Given the description of an element on the screen output the (x, y) to click on. 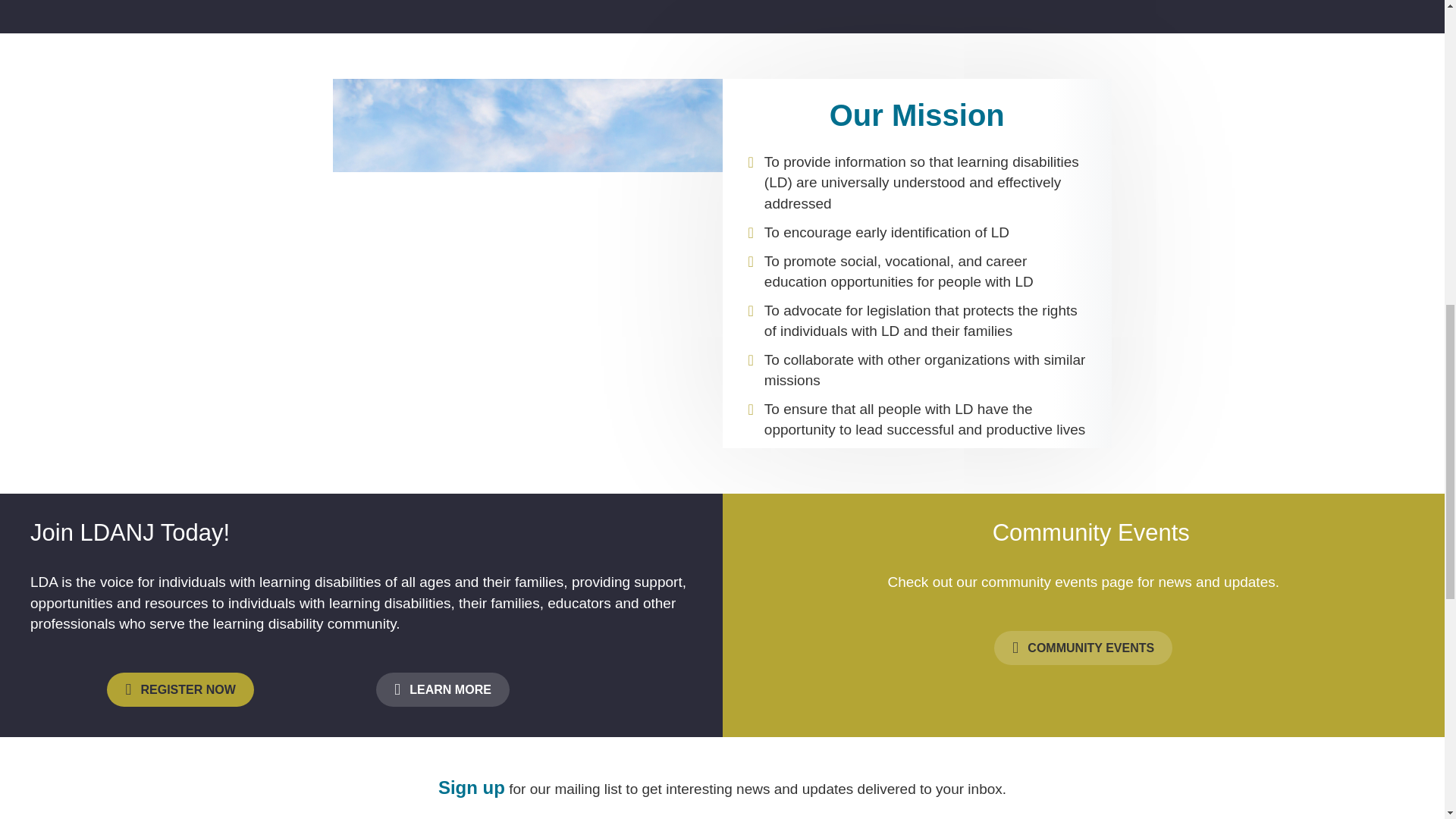
COMMUNITY EVENTS (1083, 647)
LEARN MORE (442, 689)
REGISTER NOW (179, 689)
